Given the description of an element on the screen output the (x, y) to click on. 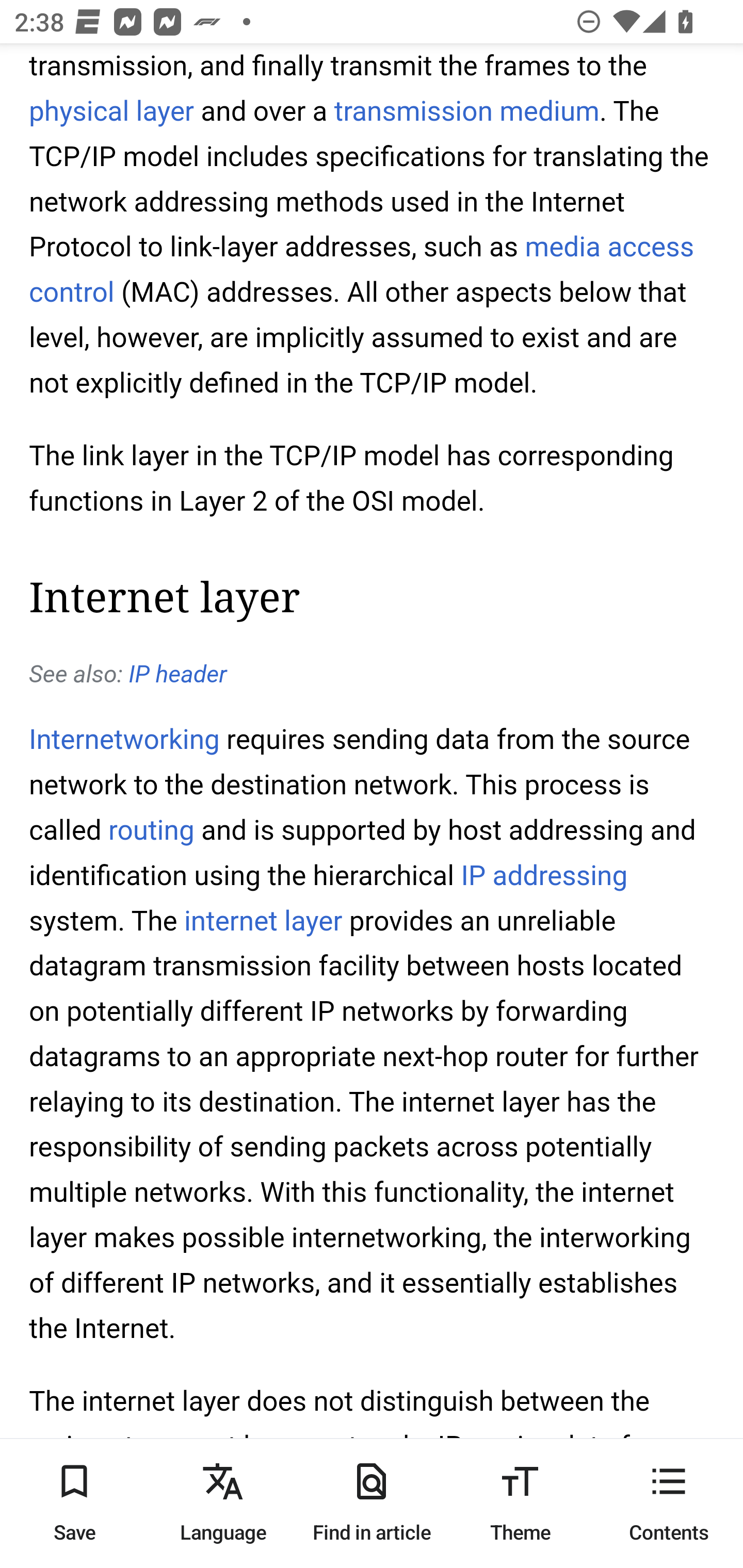
physical layer (111, 112)
transmission medium (465, 112)
media access control (361, 270)
IP header (177, 675)
Internetworking (124, 741)
routing (151, 830)
IP addressing (543, 876)
internet layer (262, 922)
Save (74, 1502)
Language (222, 1502)
Find in article (371, 1502)
Theme (519, 1502)
Contents (668, 1502)
